Given the description of an element on the screen output the (x, y) to click on. 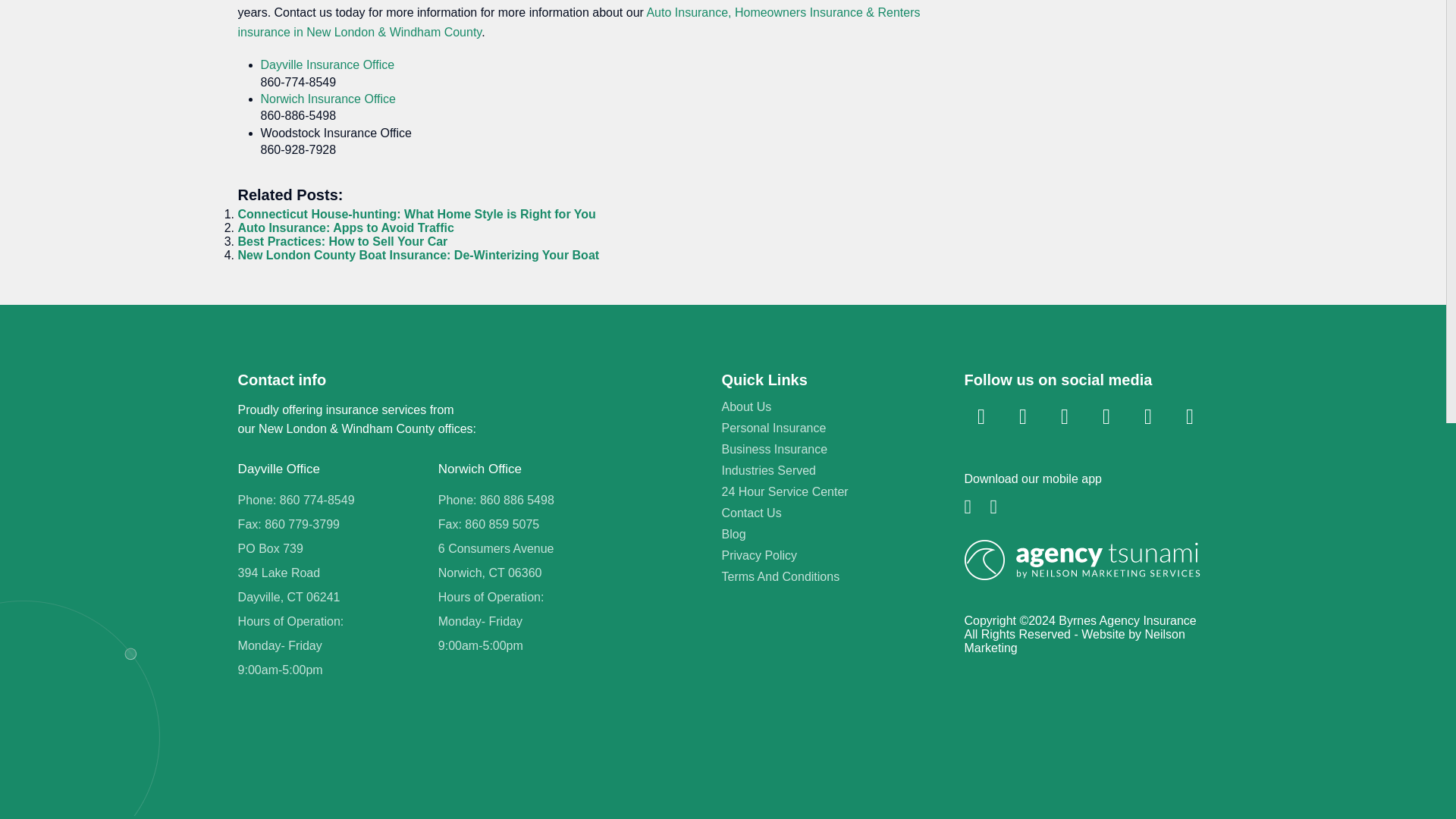
Official Linkedin profile (1022, 417)
Official Facebook page (980, 417)
Official Pinterest channel (1148, 417)
Connecticut House-hunting: What Home Style is Right for You (416, 214)
Google (1189, 417)
Official Twitter accounts (1064, 417)
Best Practices: How to Sell Your Car (343, 241)
Official Youtube channel (1105, 417)
New London County Boat Insurance: De-Winterizing Your Boat (418, 254)
Auto Insurance: Apps to Avoid Traffic (346, 227)
